Given the description of an element on the screen output the (x, y) to click on. 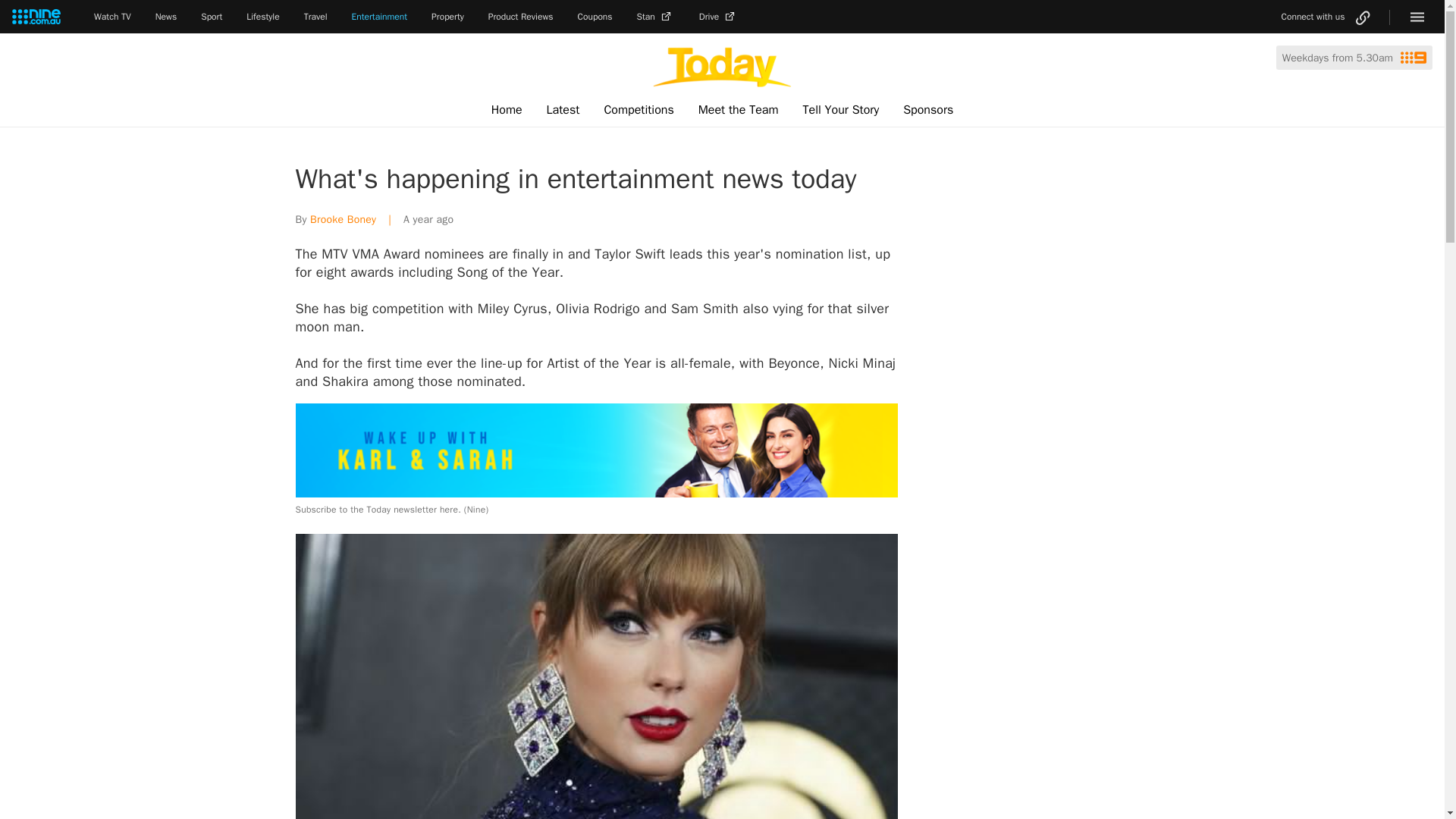
Lifestyle (262, 16)
Watch TV (112, 16)
Meet the Team (737, 109)
Product Reviews (520, 16)
Entertainment (379, 16)
Property (447, 16)
Home (506, 109)
Stan (656, 16)
Competitions (638, 109)
Coupons (595, 16)
